Given the description of an element on the screen output the (x, y) to click on. 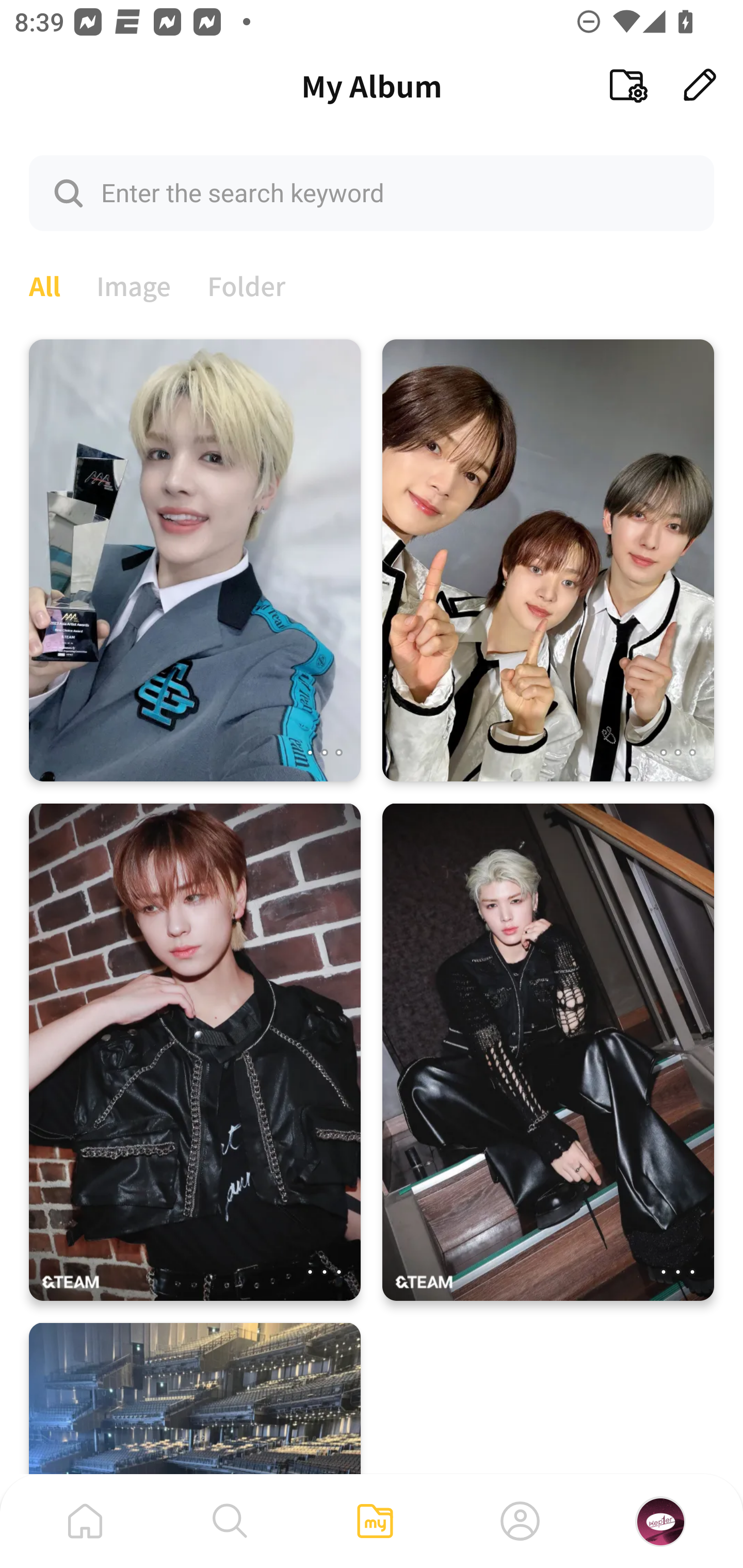
Enter the search keyword (371, 192)
All (44, 284)
Image (133, 284)
Folder (246, 284)
